Given the description of an element on the screen output the (x, y) to click on. 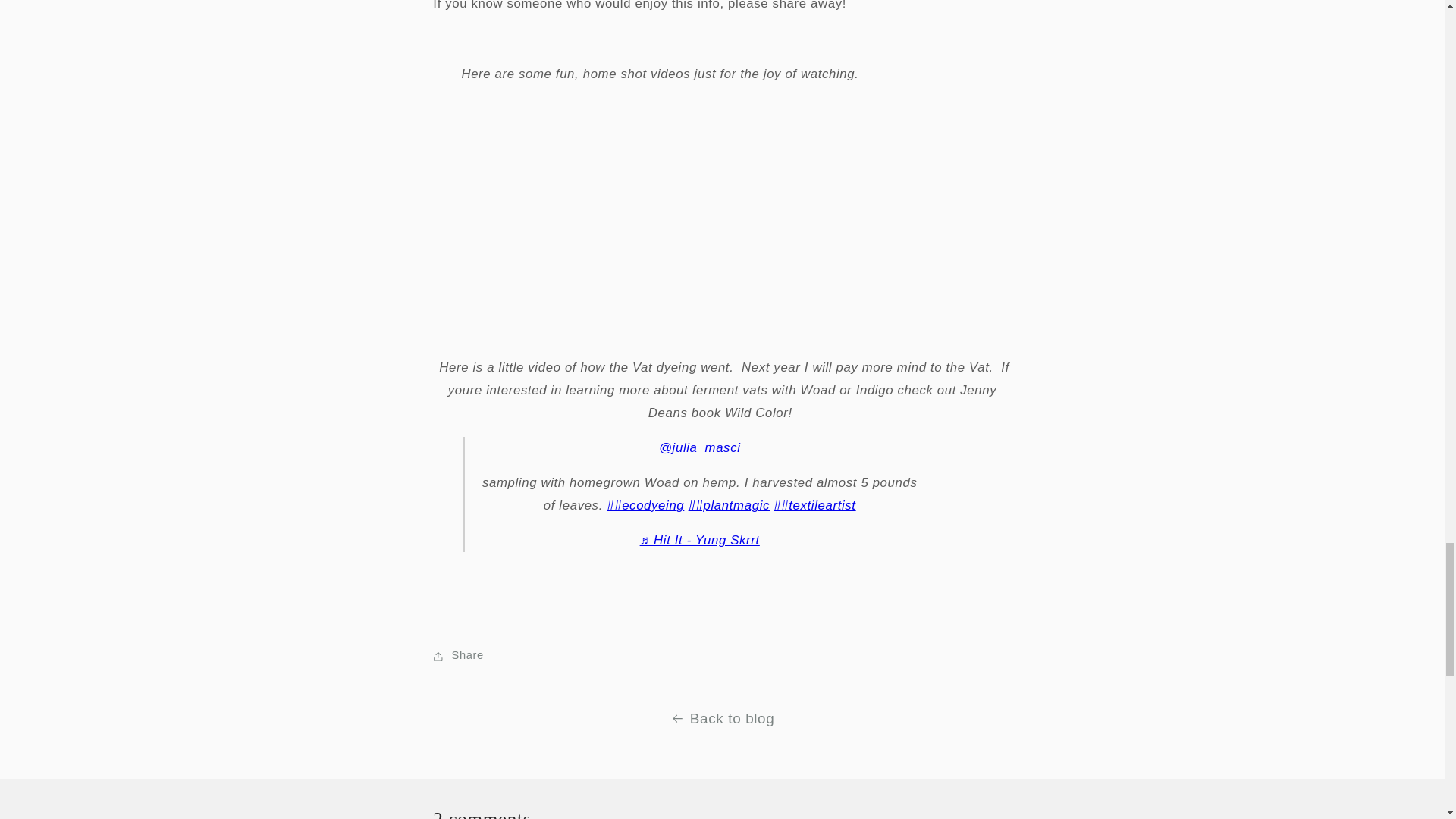
plantmagic (729, 504)
ecodyeing (645, 504)
textileartist (814, 504)
YouTube video player (721, 216)
